Given the description of an element on the screen output the (x, y) to click on. 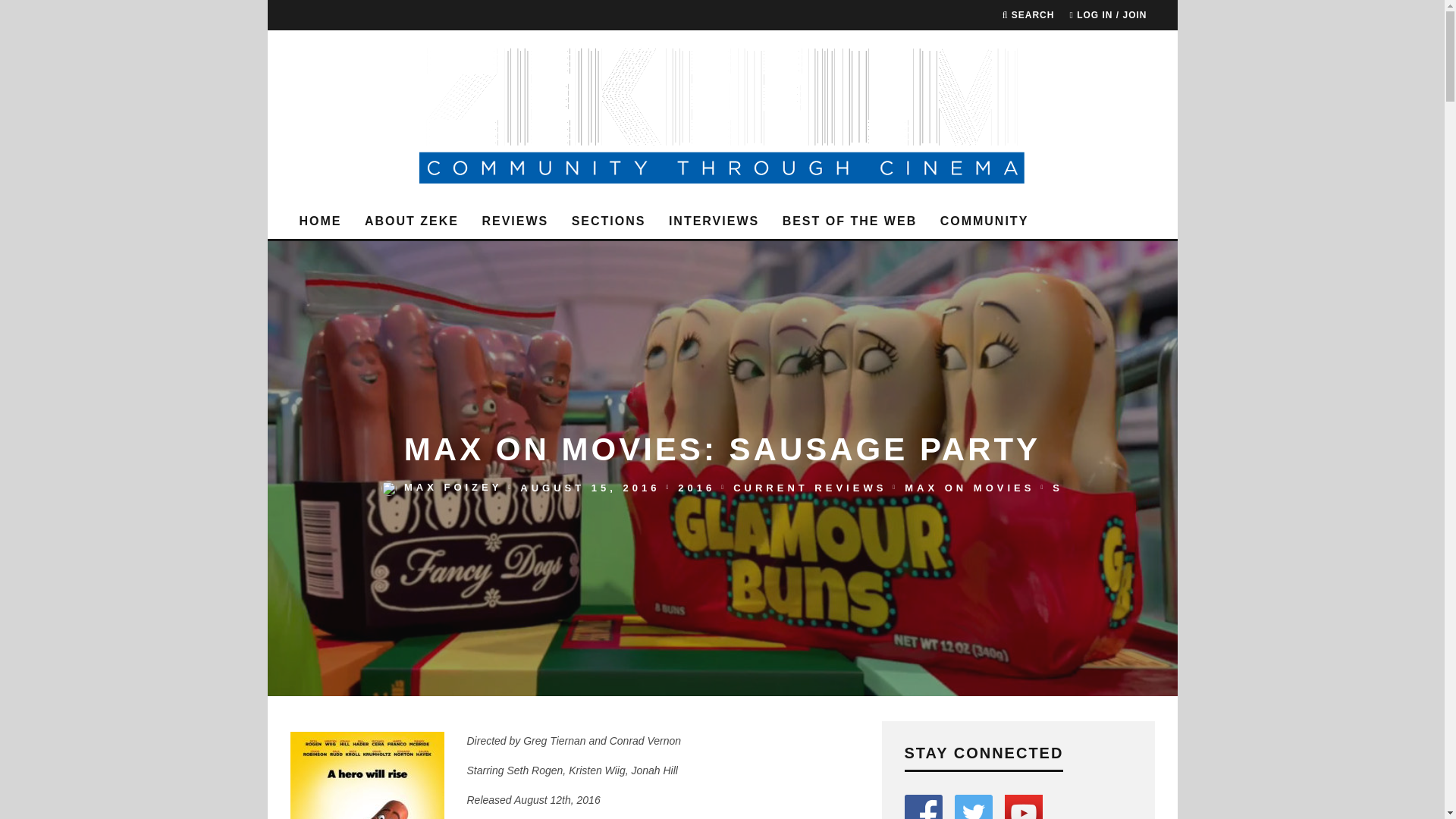
Log In (721, 439)
View all posts in 2016 (696, 487)
Posts by Max Foizey (453, 487)
View all posts in Current Reviews (809, 487)
Search (1028, 15)
SEARCH (1028, 15)
HOME (319, 221)
View all posts in S (1057, 487)
View all posts in Max on Movies (968, 487)
ABOUT ZEKE (411, 221)
